Given the description of an element on the screen output the (x, y) to click on. 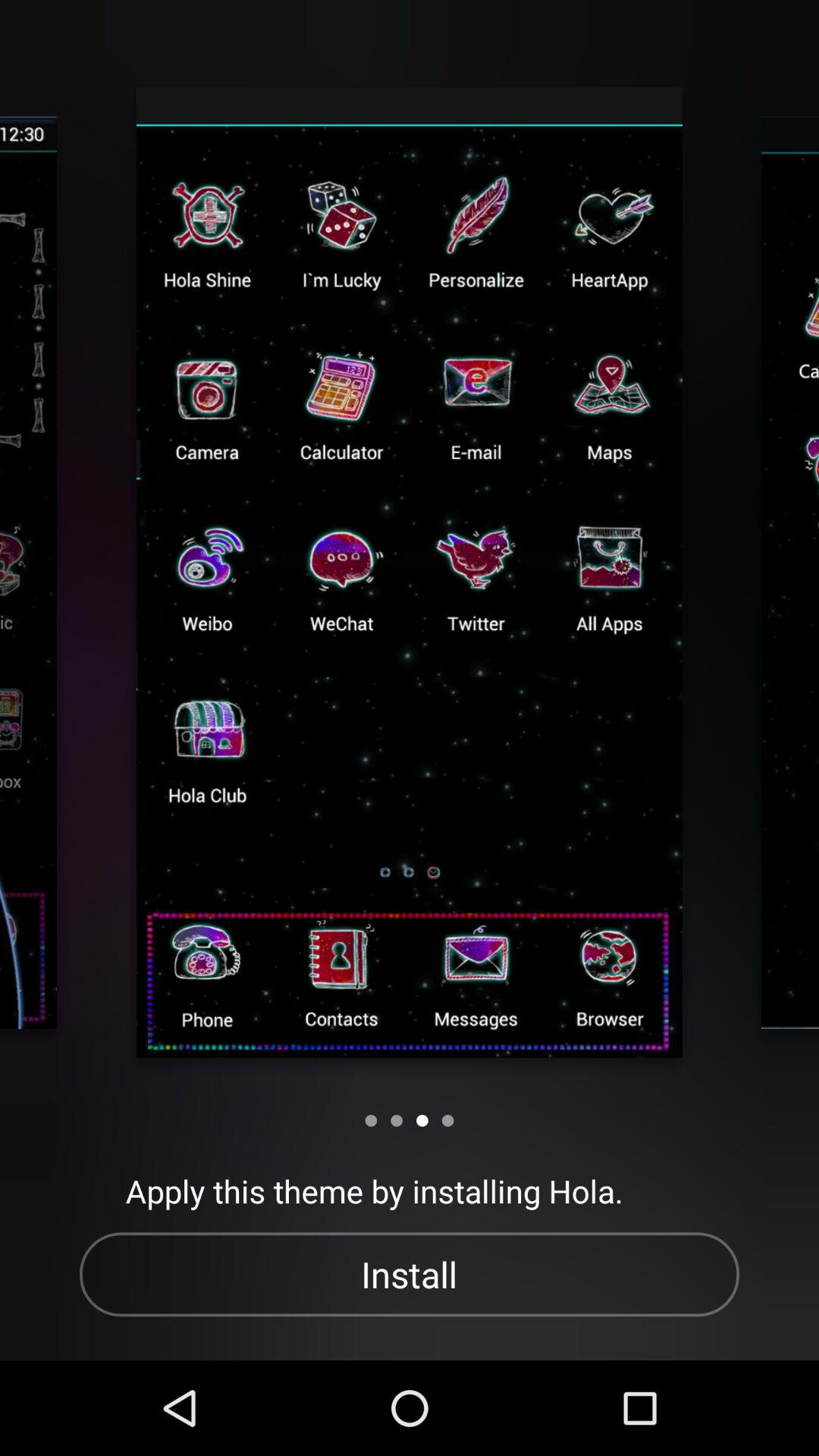
tap the app above the apply this theme (396, 1120)
